Given the description of an element on the screen output the (x, y) to click on. 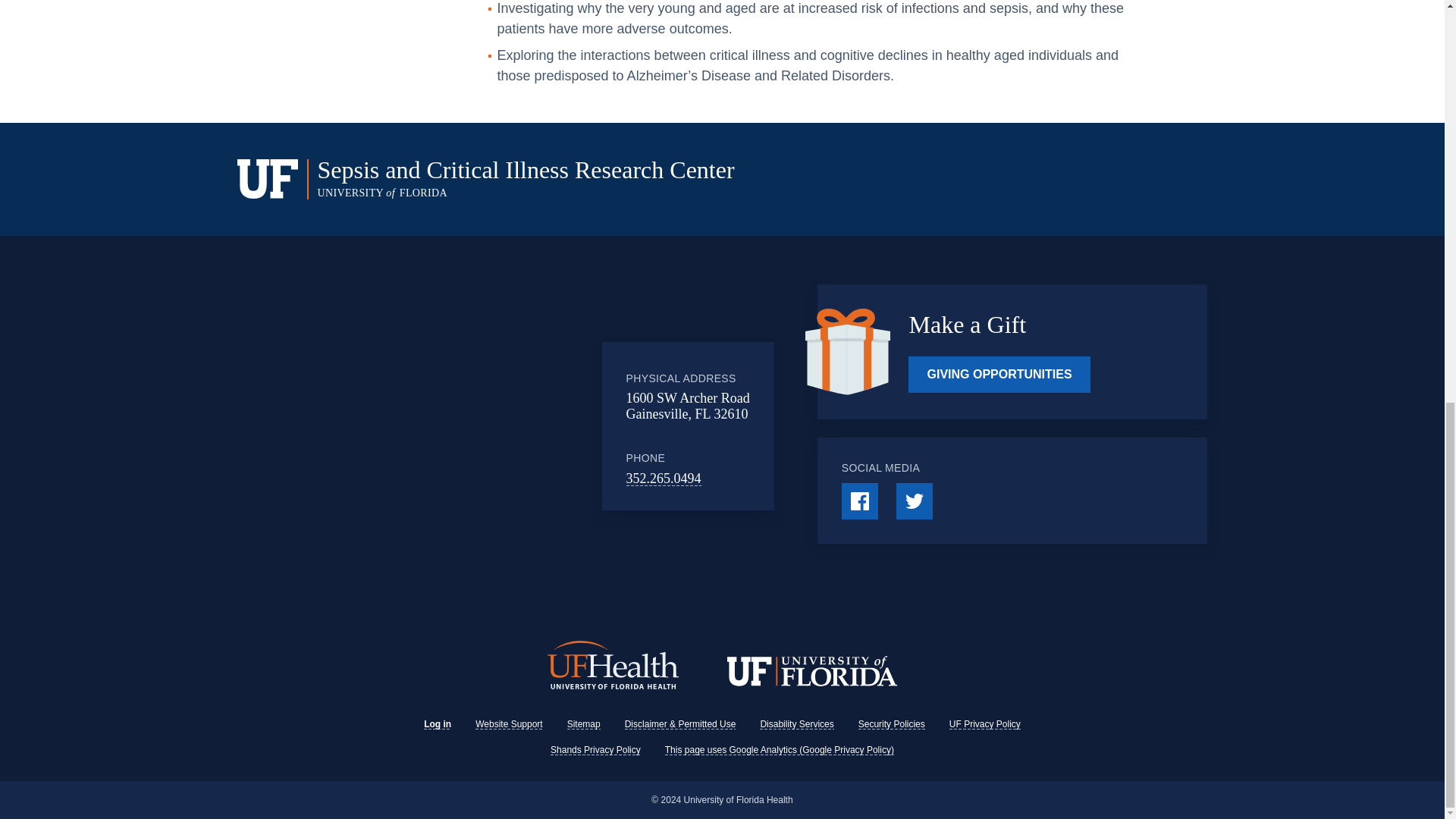
Disability Services (796, 723)
Security Policies (891, 723)
Google Maps Embed (477, 425)
Log in (437, 723)
Sitemap (583, 723)
UF Privacy Policy (984, 723)
352.265.0494 (663, 478)
Website Support (509, 723)
Shands Privacy Policy (595, 748)
